Given the description of an element on the screen output the (x, y) to click on. 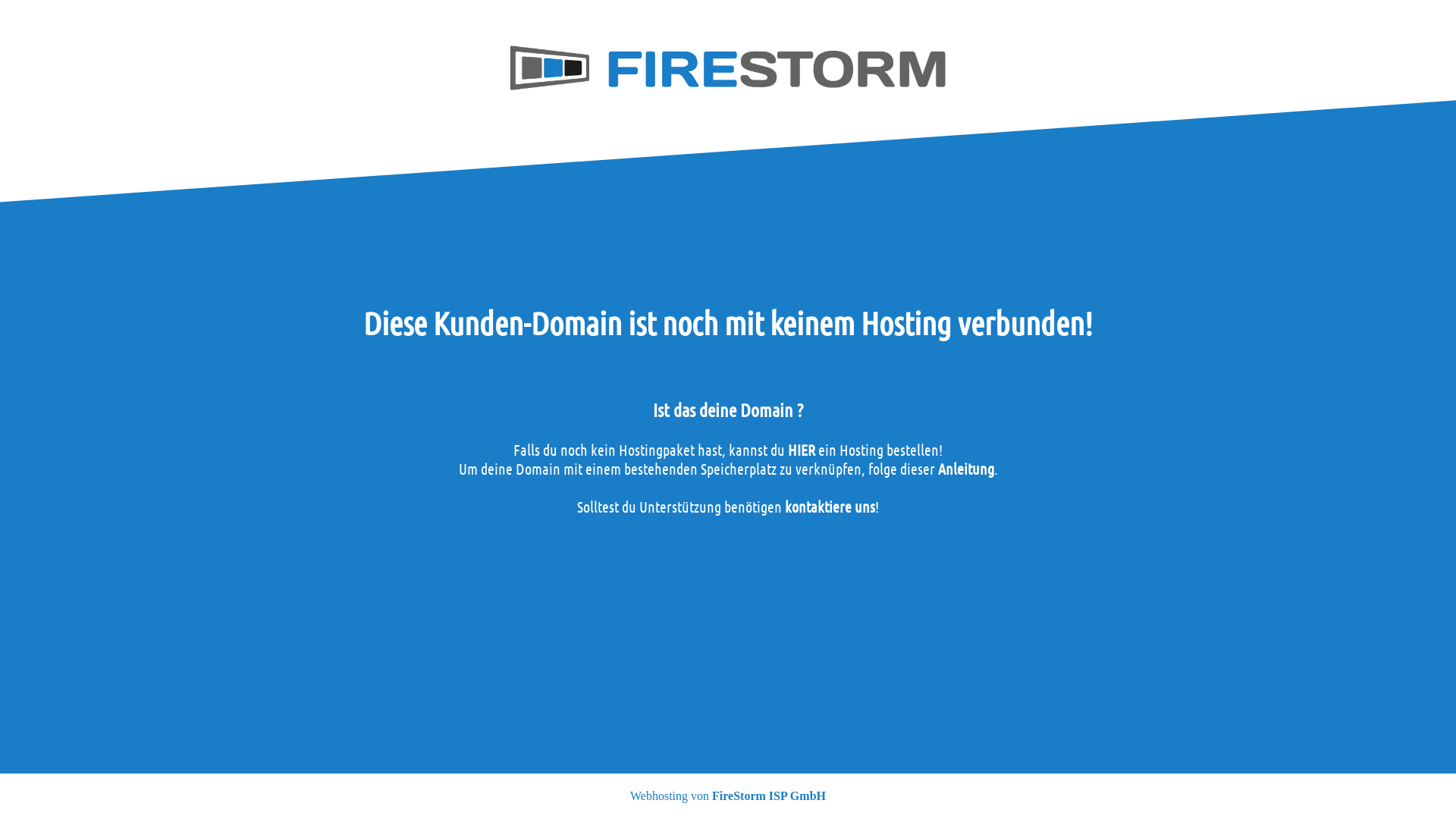
FireStorm ISP GmbH Element type: text (768, 795)
HIER Element type: text (801, 449)
kontaktiere uns Element type: text (829, 506)
Anleitung Element type: text (965, 468)
